Given the description of an element on the screen output the (x, y) to click on. 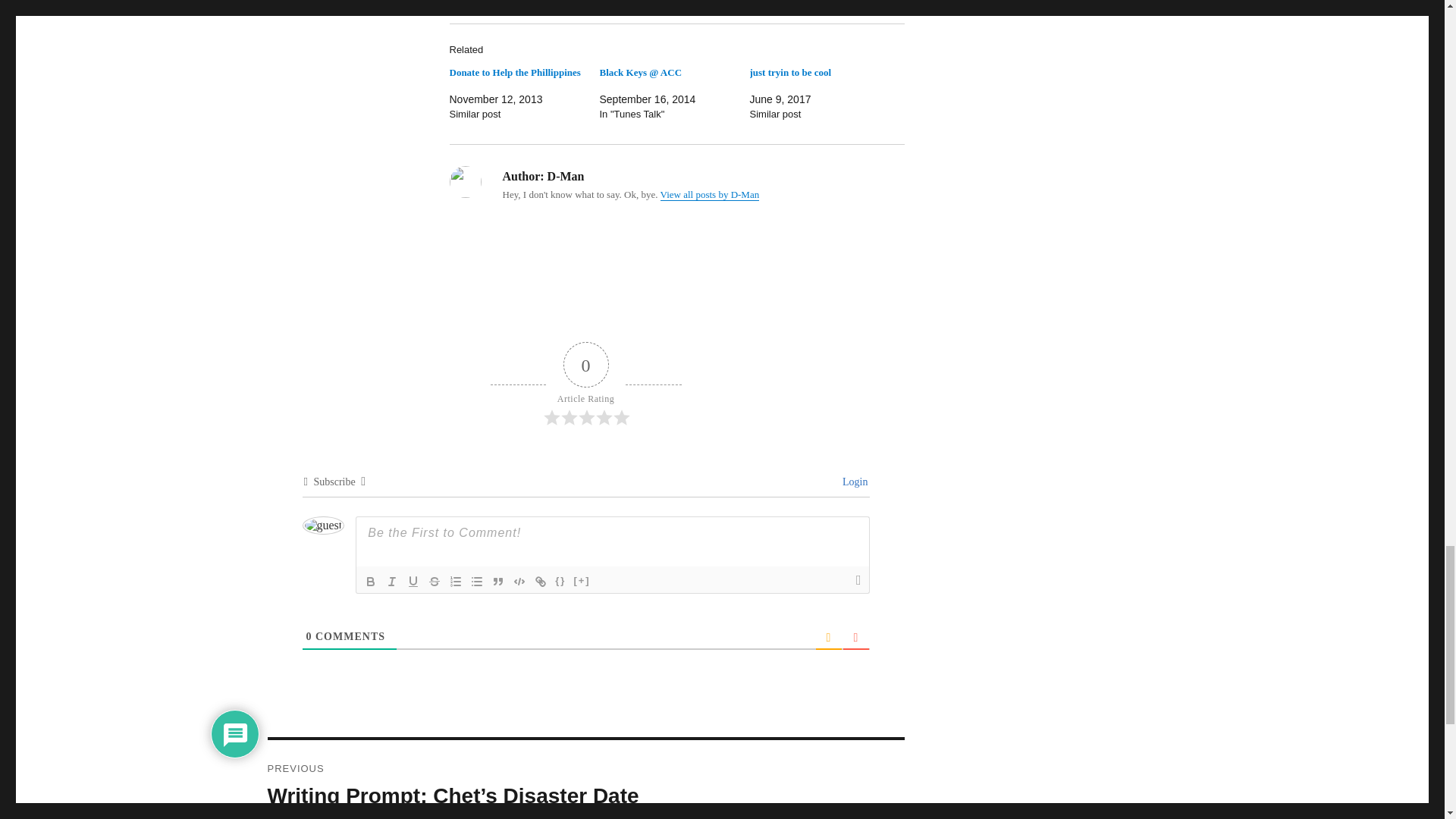
Strike (434, 581)
Unordered List (476, 581)
ordered (455, 581)
Code Block (518, 581)
Blockquote (497, 581)
Spoiler (581, 581)
Bold (370, 581)
Login (852, 481)
Link (540, 581)
just tryin to be cool (790, 71)
just tryin to be cool (790, 71)
Donate to Help the Phillippines (513, 71)
Ordered List (455, 581)
Source Code (560, 581)
Underline (413, 581)
